Given the description of an element on the screen output the (x, y) to click on. 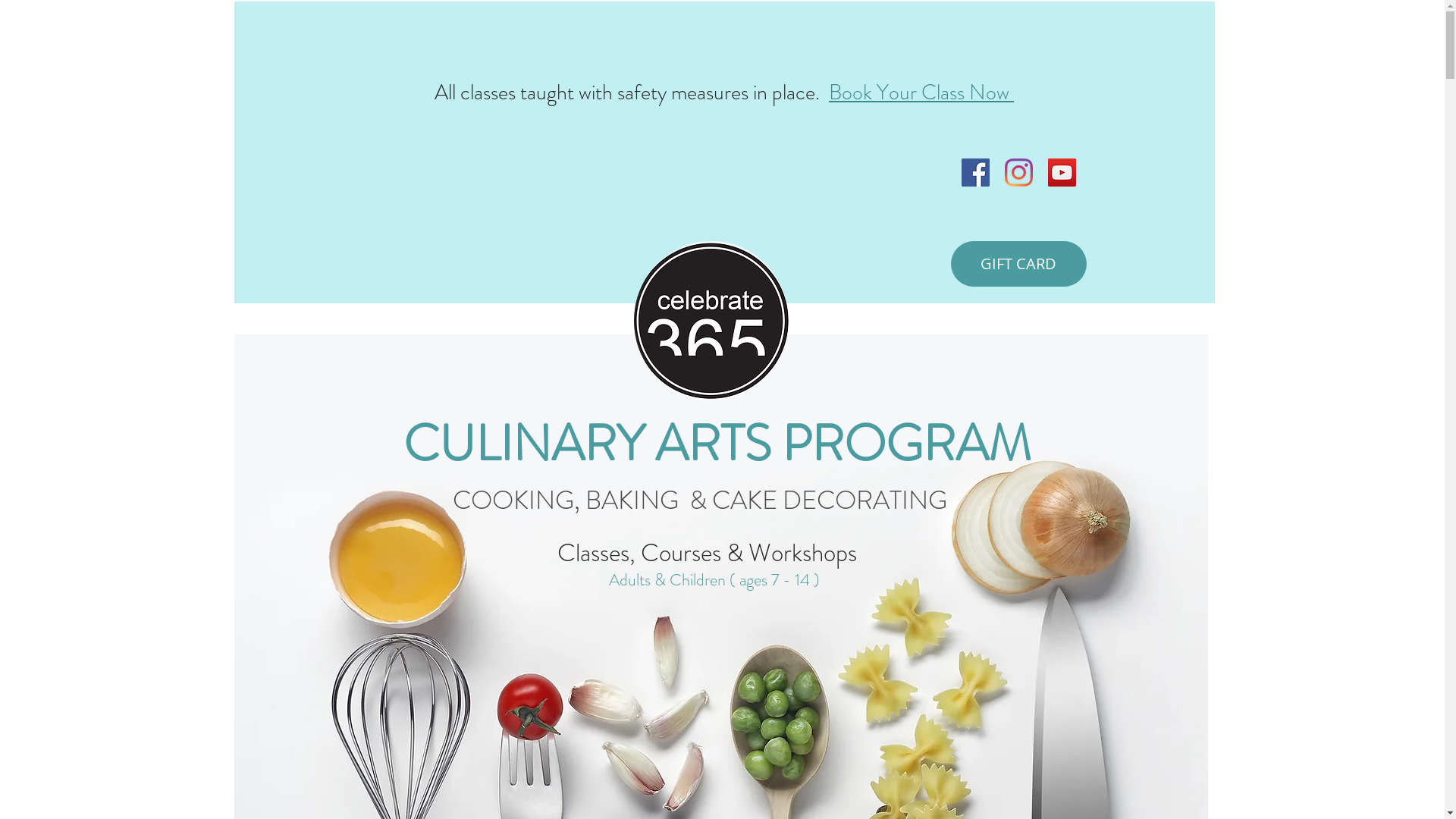
Classes, Courses & Workshops Element type: text (706, 552)
Conversion Popup Element type: hover (722, 15)
Conversion Popup Element type: hover (723, 102)
Book Your Class Now  Element type: text (920, 90)
CULINARY ARTS PROGRAM  Element type: text (722, 443)
GIFT CARD Element type: text (1018, 263)
